Given the description of an element on the screen output the (x, y) to click on. 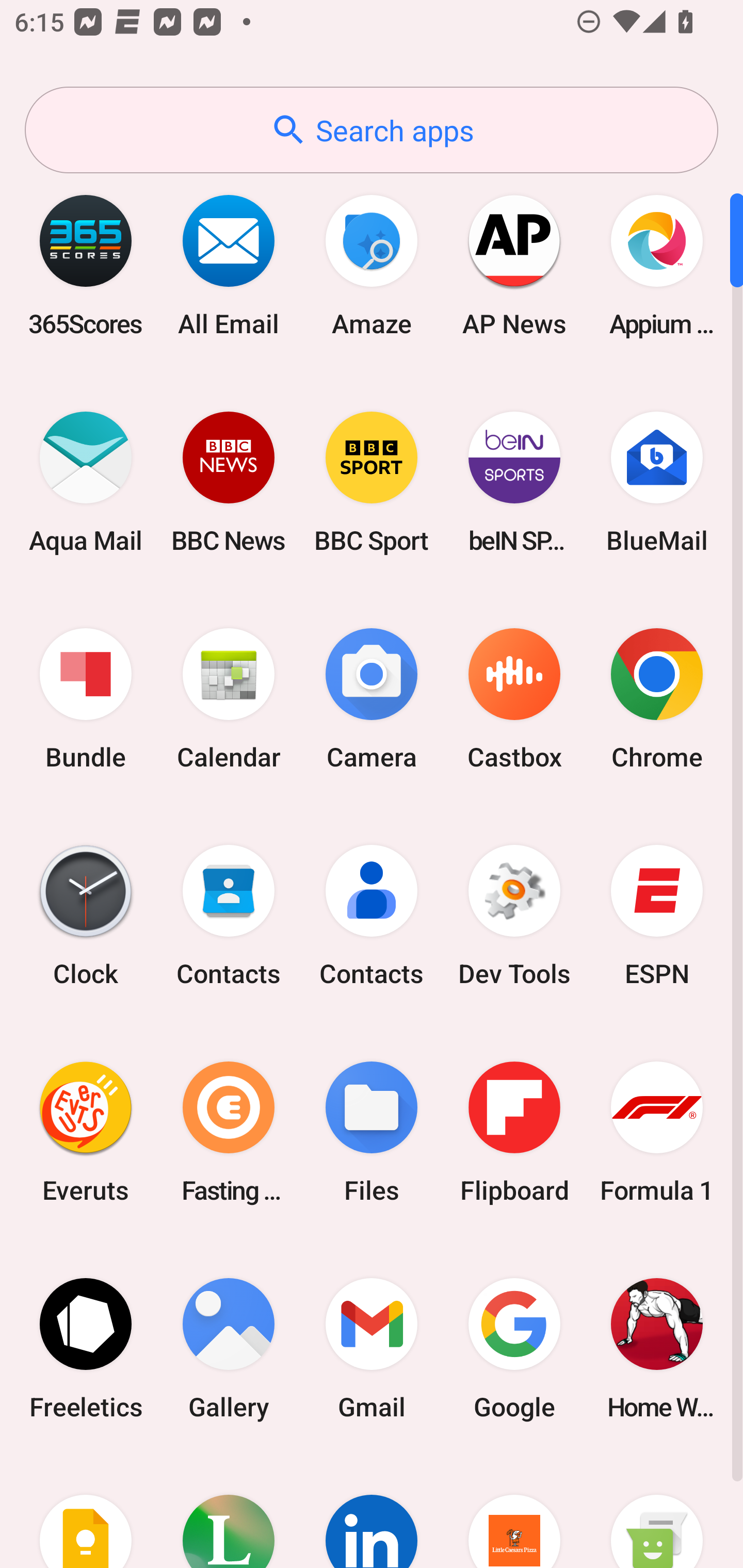
  Search apps (371, 130)
365Scores (85, 264)
All Email (228, 264)
Amaze (371, 264)
AP News (514, 264)
Appium Settings (656, 264)
Aqua Mail (85, 482)
BBC News (228, 482)
BBC Sport (371, 482)
beIN SPORTS (514, 482)
BlueMail (656, 482)
Bundle (85, 699)
Calendar (228, 699)
Camera (371, 699)
Castbox (514, 699)
Chrome (656, 699)
Clock (85, 915)
Contacts (228, 915)
Contacts (371, 915)
Dev Tools (514, 915)
ESPN (656, 915)
Everuts (85, 1131)
Fasting Coach (228, 1131)
Files (371, 1131)
Flipboard (514, 1131)
Formula 1 (656, 1131)
Freeletics (85, 1348)
Gallery (228, 1348)
Gmail (371, 1348)
Google (514, 1348)
Home Workout (656, 1348)
